Given the description of an element on the screen output the (x, y) to click on. 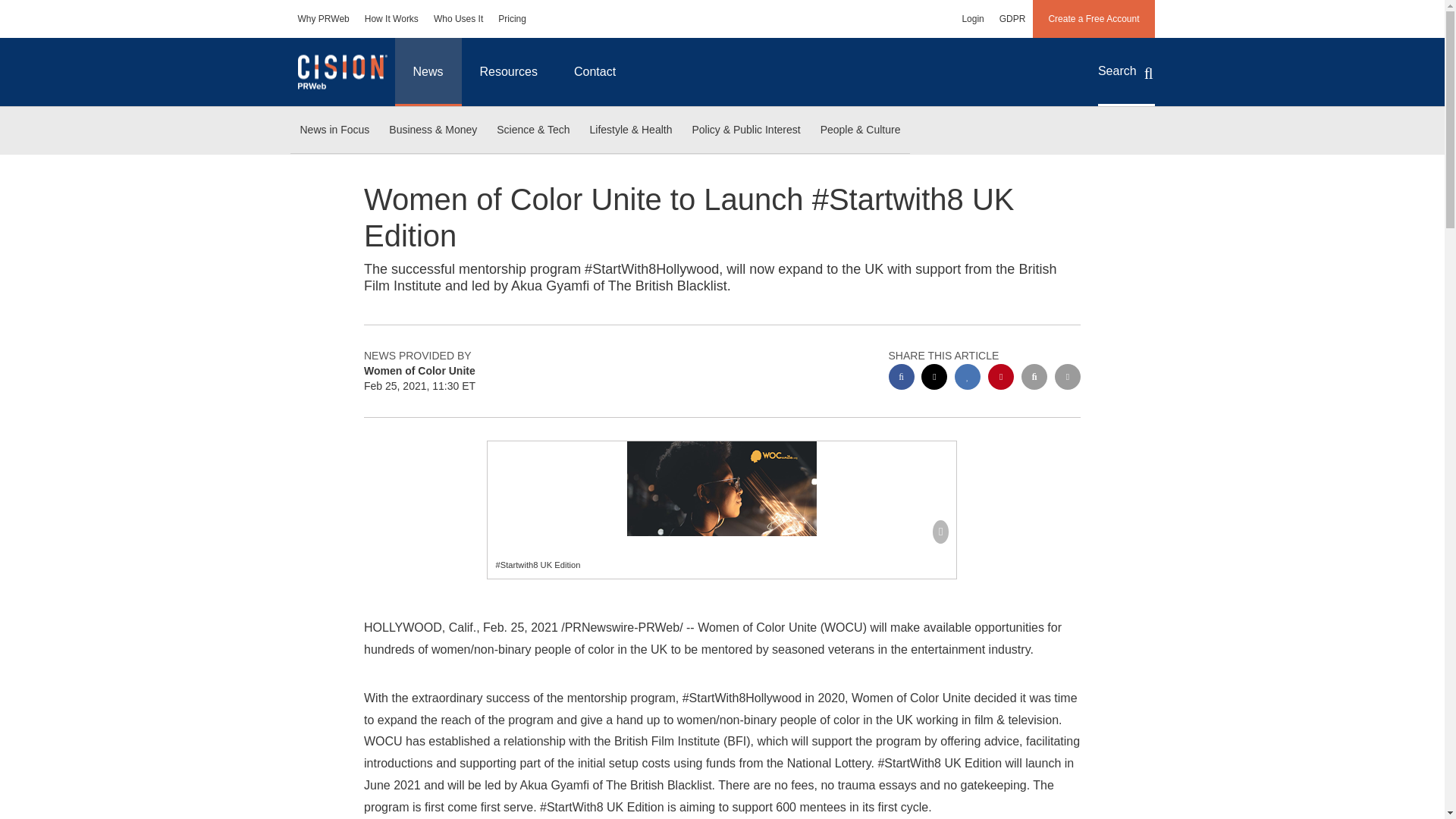
News in Focus (333, 130)
